Given the description of an element on the screen output the (x, y) to click on. 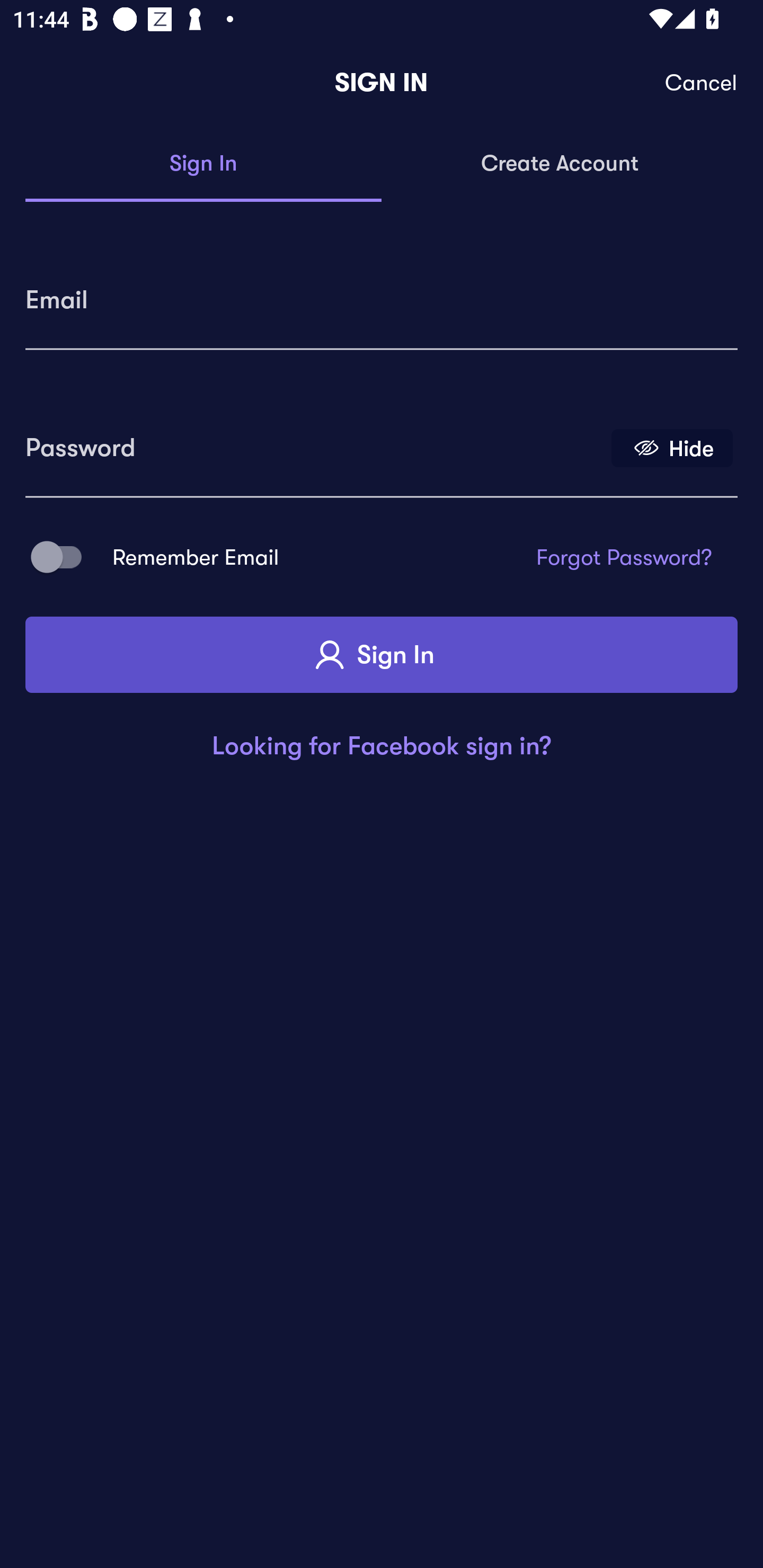
Cancel (701, 82)
Sign In (203, 164)
Create Account (559, 164)
Email (381, 293)
Password (314, 441)
Show Password Hide (671, 447)
Remember Email (62, 557)
Sign In (381, 654)
